Given the description of an element on the screen output the (x, y) to click on. 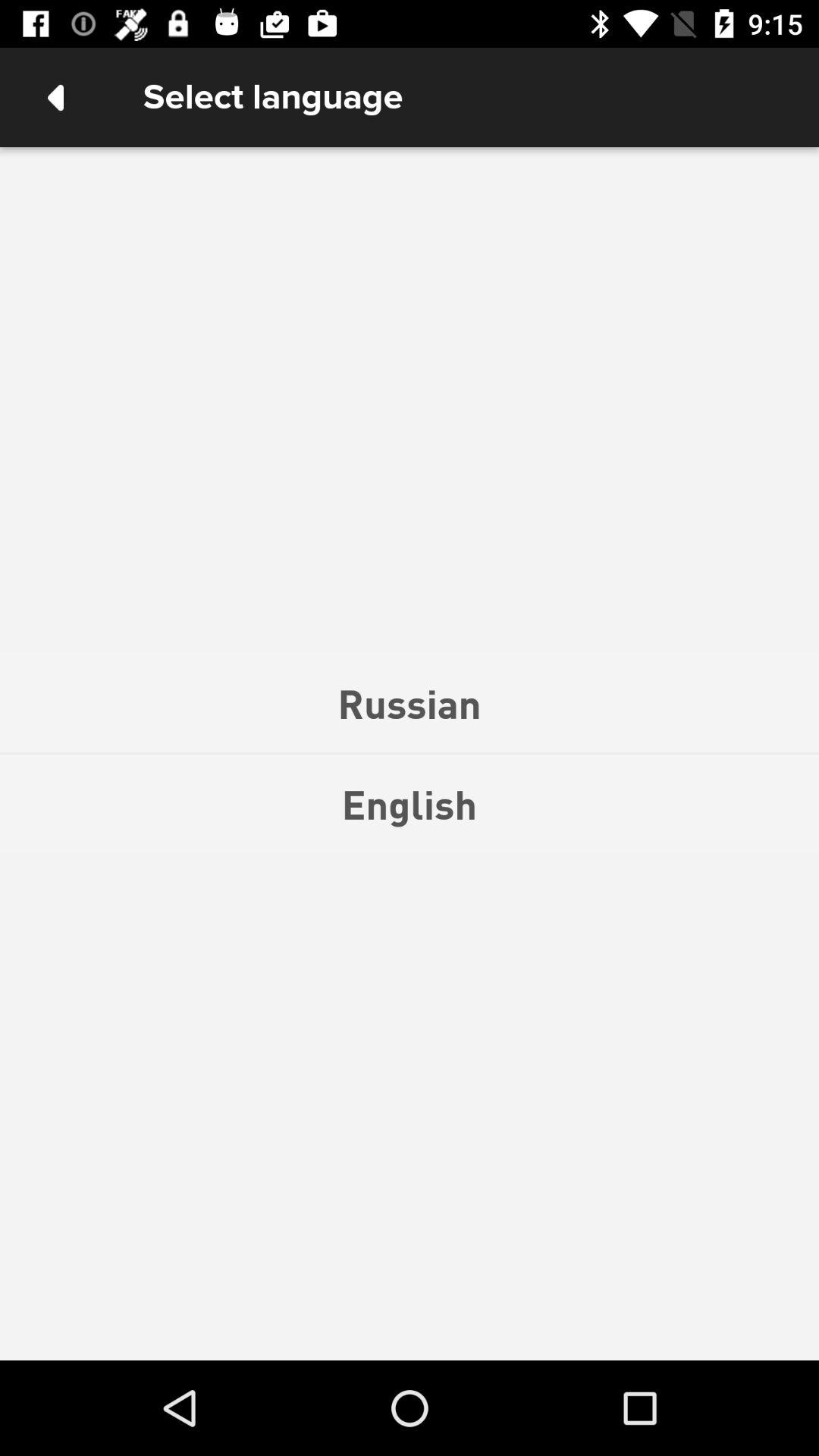
turn off icon to the left of the select language (55, 97)
